Given the description of an element on the screen output the (x, y) to click on. 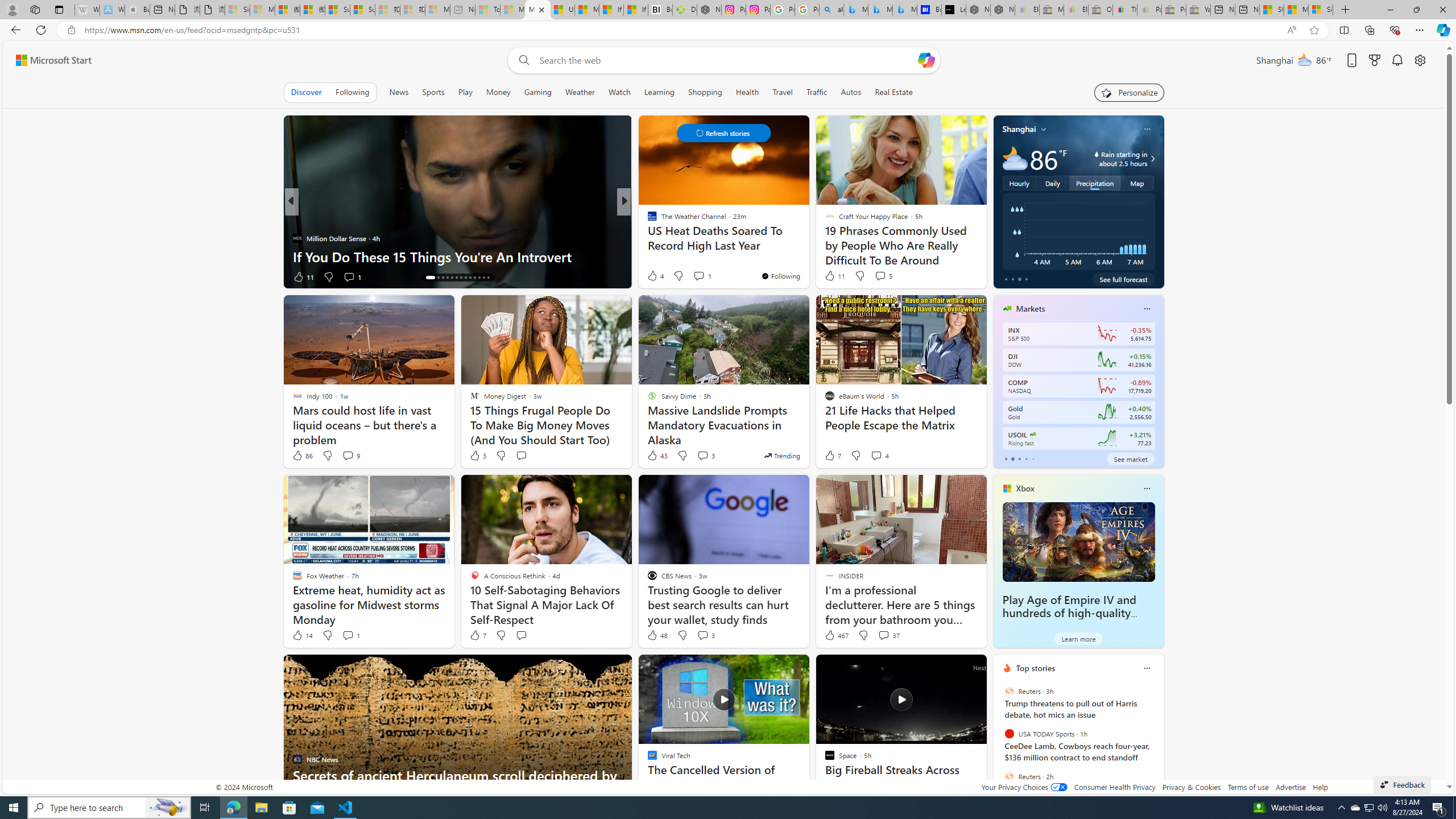
View comments 2 Comment (702, 276)
48 Like (657, 634)
4 Like (655, 275)
Map (1137, 183)
The Register (647, 238)
12 Like (652, 276)
3 Like (477, 455)
Threats and offensive language policy | eBay (1124, 9)
Bolde Media (647, 219)
Microsoft Bing Travel - Flights from Hong Kong to Bangkok (855, 9)
